Given the description of an element on the screen output the (x, y) to click on. 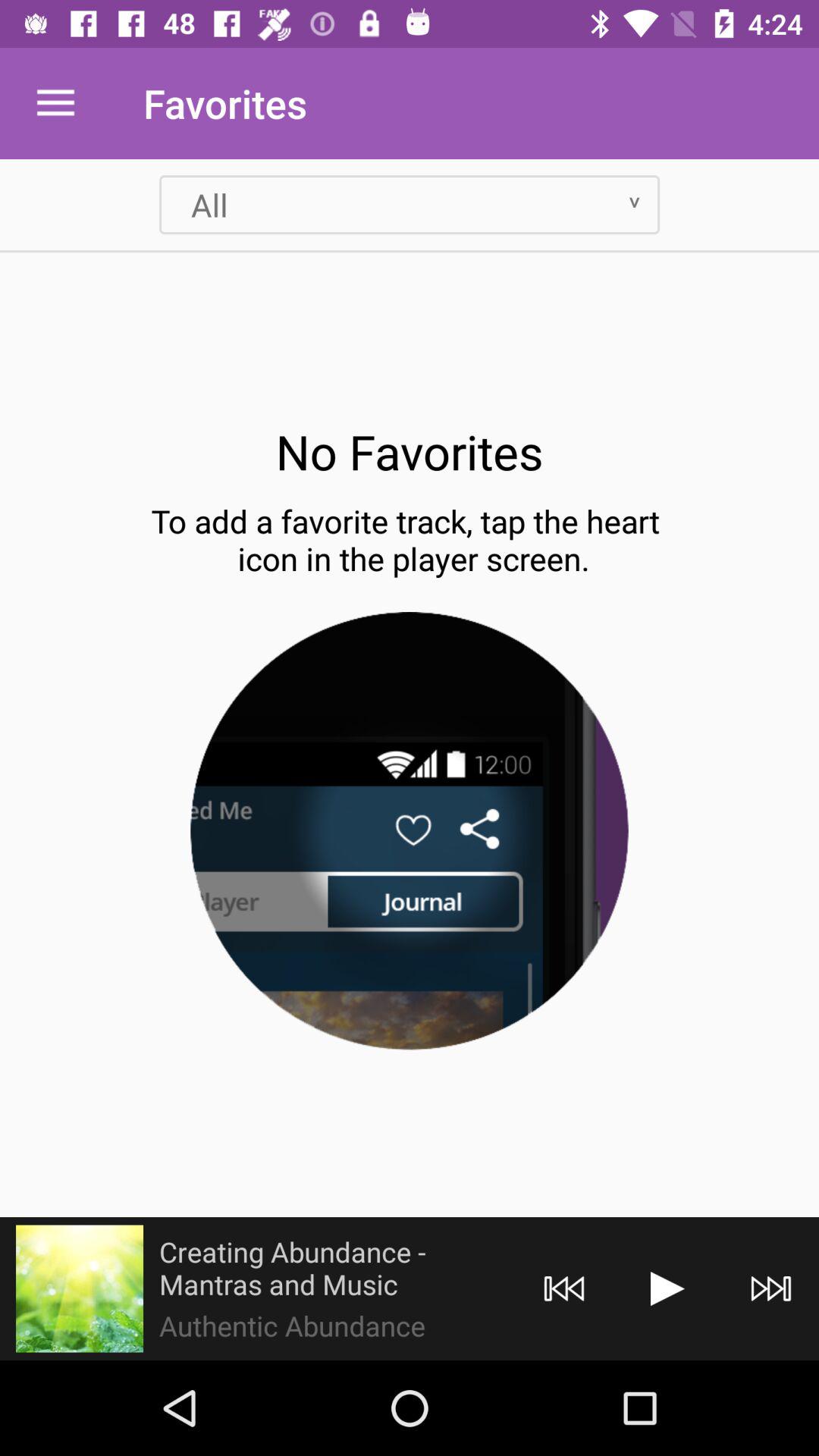
restart song (564, 1288)
